Given the description of an element on the screen output the (x, y) to click on. 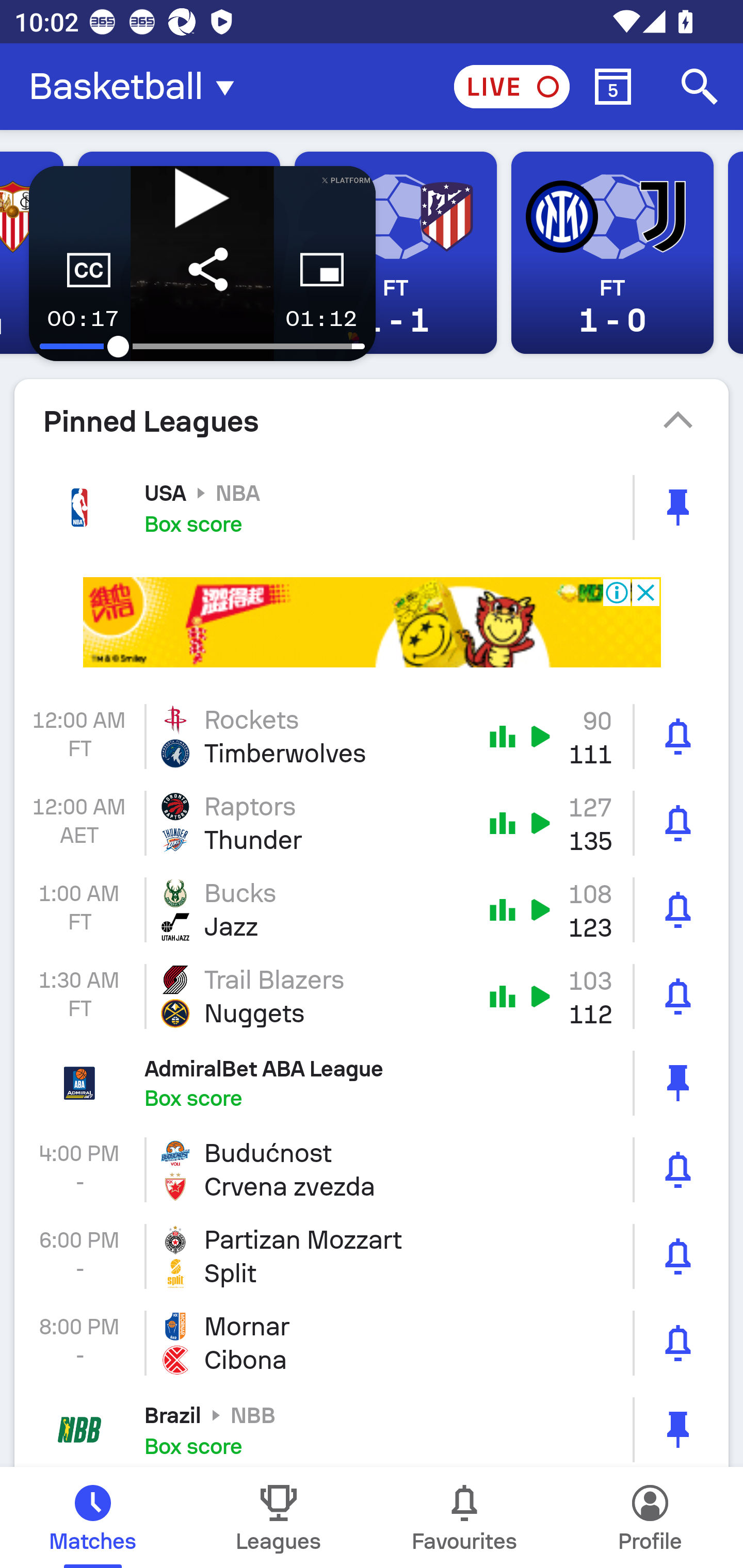
Basketball (137, 86)
Calendar (612, 86)
Search (699, 86)
FT 1 - 0 (612, 253)
Pinned Leagues (371, 421)
USA NBA Box score (371, 507)
Advertisement (371, 621)
12:00 AM FT Rockets Timberwolves 111 90 (371, 736)
12:00 AM AET Raptors Thunder 127 135 (371, 823)
1:00 AM FT Bucks Jazz 108 123 (371, 910)
1:30 AM FT Trail Blazers Nuggets 103 112 (371, 996)
AdmiralBet ABA League Box score (371, 1082)
4:00 PM - Budućnost Crvena zvezda (371, 1169)
6:00 PM - Partizan Mozzart Split (371, 1256)
8:00 PM - Mornar Cibona (371, 1342)
Brazil NBB Box score (371, 1426)
Leagues (278, 1517)
Favourites (464, 1517)
Profile (650, 1517)
